Given the description of an element on the screen output the (x, y) to click on. 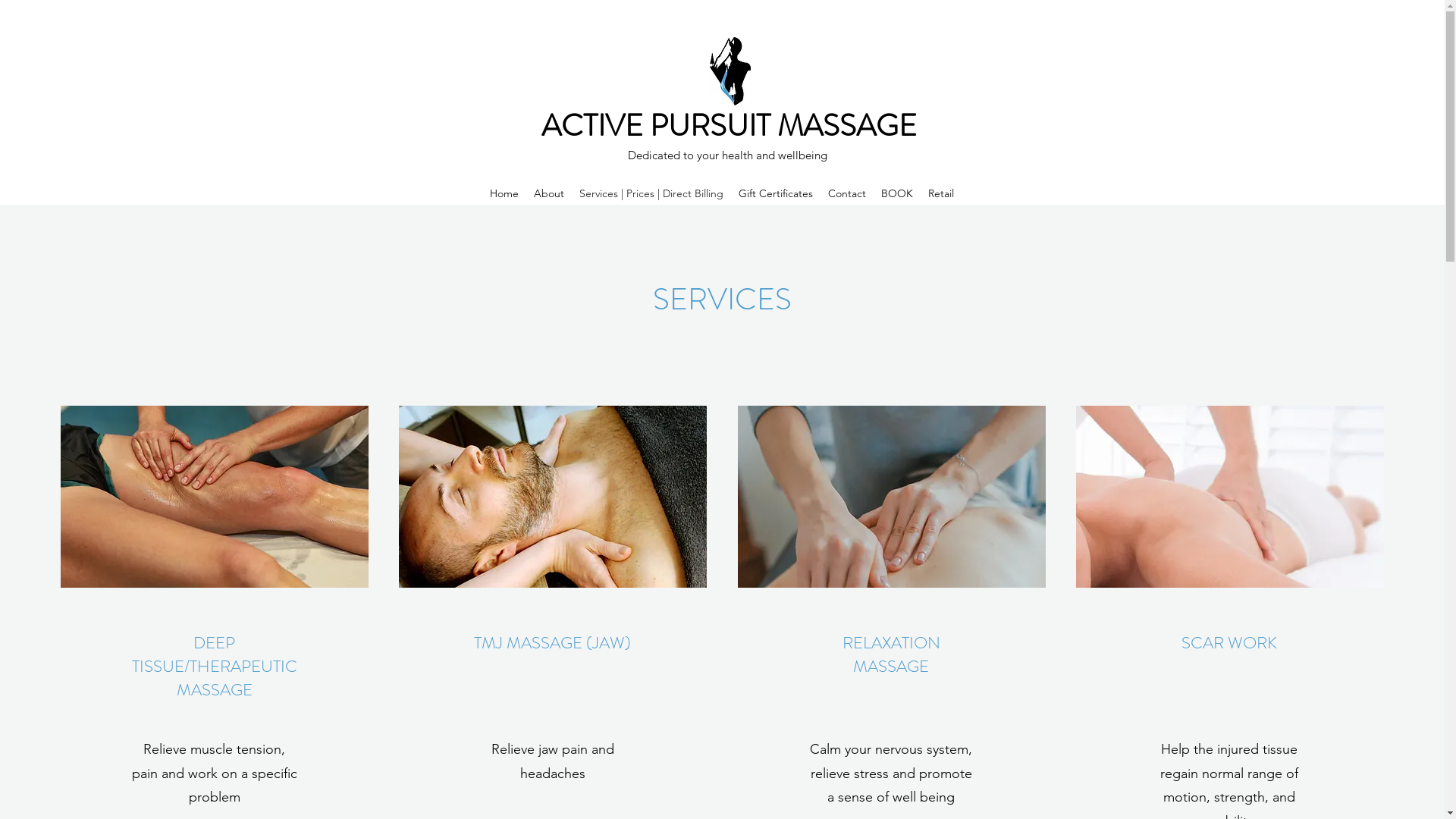
Contact Element type: text (846, 193)
BOOK Element type: text (896, 193)
ACTIVE PURSUIT MASSAGE Element type: text (728, 125)
Home Element type: text (504, 193)
Gift Certificates Element type: text (775, 193)
Services | Prices | Direct Billing Element type: text (651, 193)
Retail Element type: text (940, 193)
About Element type: text (548, 193)
